Given the description of an element on the screen output the (x, y) to click on. 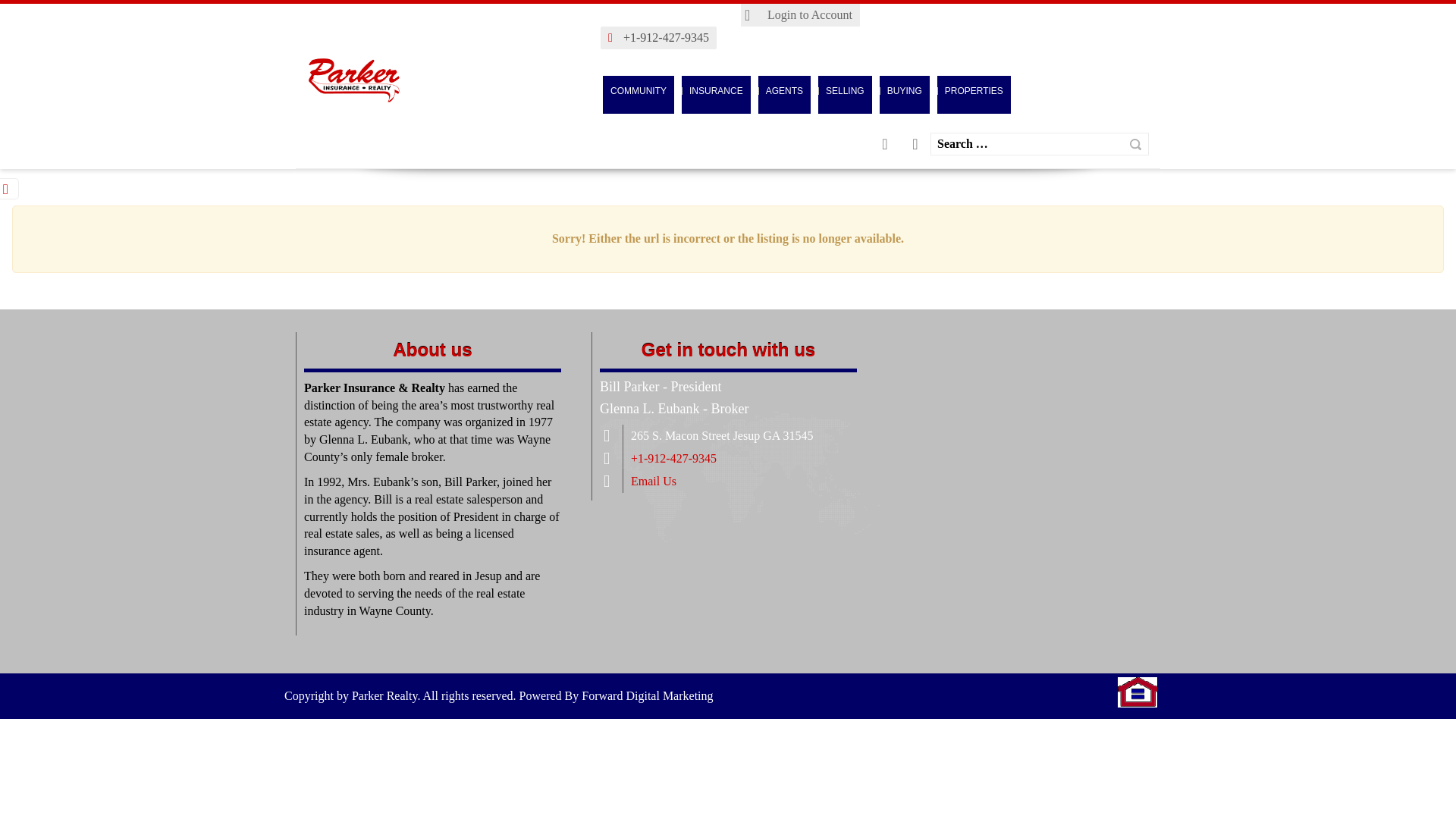
BUYING (904, 91)
instagram (884, 143)
Search (1135, 143)
AGENTS (784, 91)
INSURANCE (716, 91)
Parker (1137, 690)
SELLING (845, 91)
COMMUNITY (638, 91)
Facebook (915, 143)
Login to Account (800, 15)
